Given the description of an element on the screen output the (x, y) to click on. 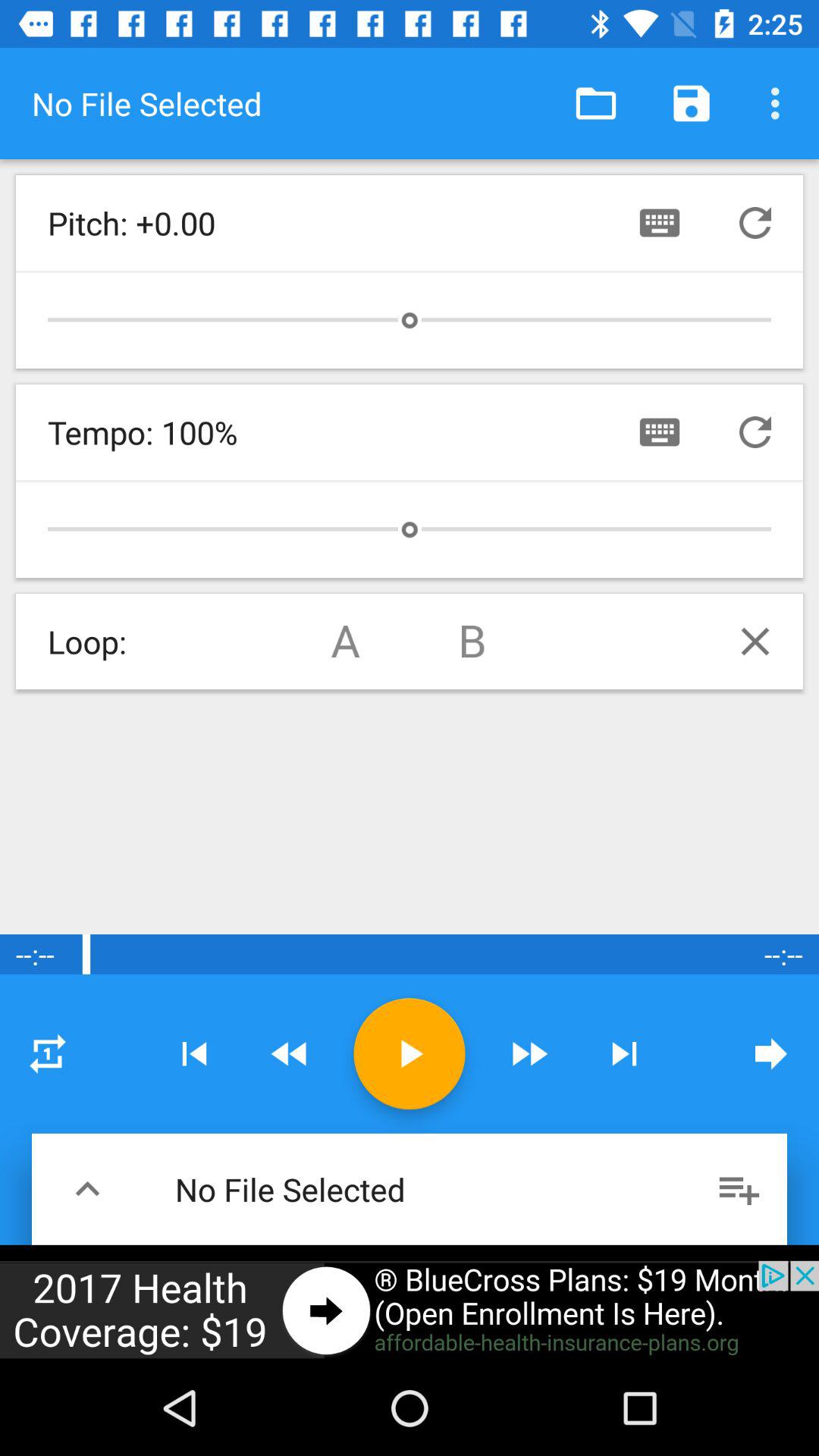
next song (624, 1053)
